Given the description of an element on the screen output the (x, y) to click on. 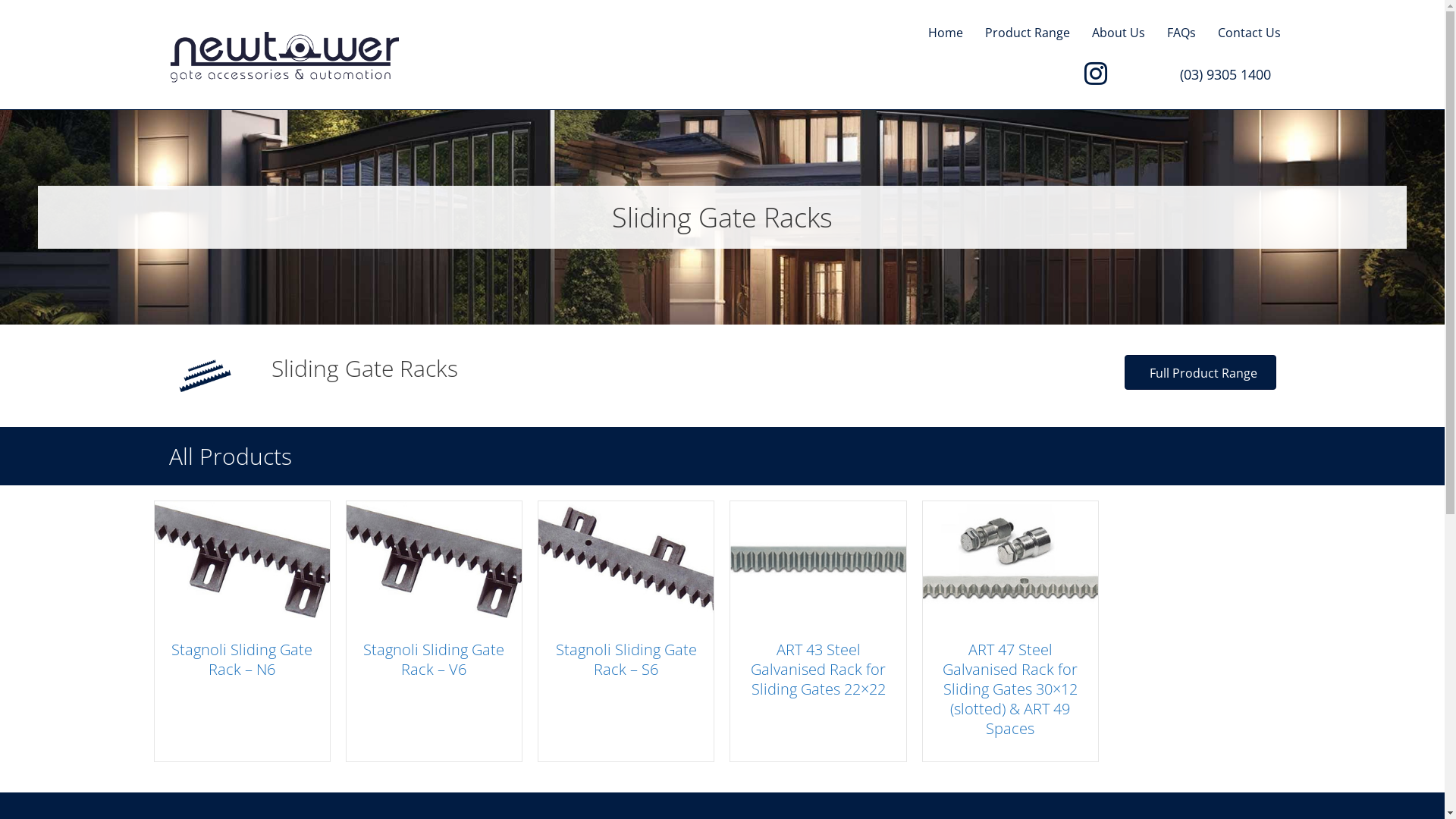
About Us Element type: text (1118, 32)
newtower-logo-web Element type: hover (283, 56)
Full Product Range Element type: text (1199, 371)
tracks Element type: hover (204, 375)
Product Range Element type: text (1026, 32)
Contact Us Element type: text (1249, 32)
Home Element type: text (945, 32)
FAQs Element type: text (1180, 32)
